Given the description of an element on the screen output the (x, y) to click on. 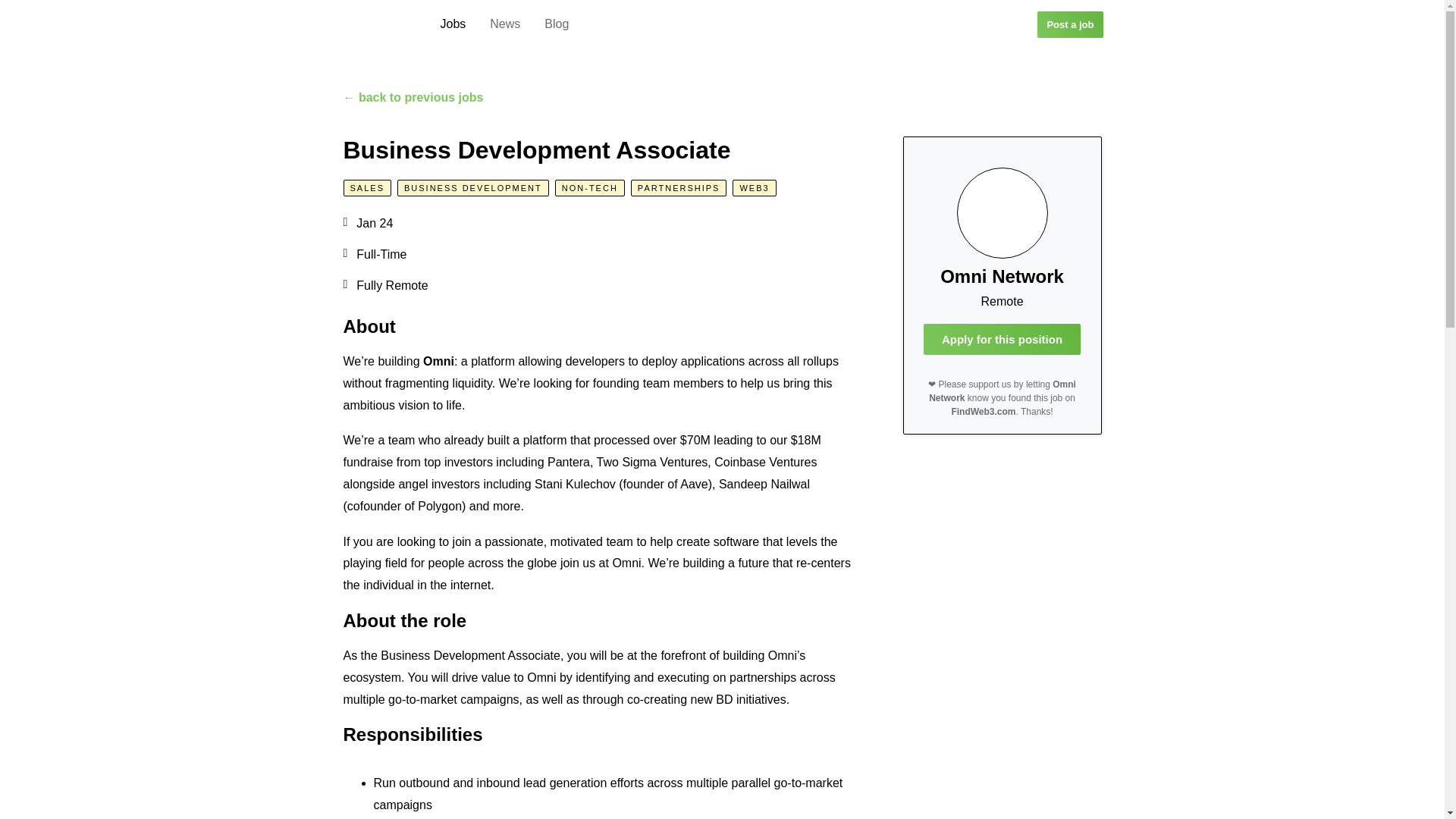
Blog (556, 23)
Post a job (1069, 23)
SALES (366, 187)
PARTNERSHIPS (678, 187)
Jobs (452, 23)
News (504, 23)
NON-TECH (589, 187)
BUSINESS DEVELOPMENT (472, 187)
WEB3 (754, 187)
Apply for this position (1001, 338)
